Given the description of an element on the screen output the (x, y) to click on. 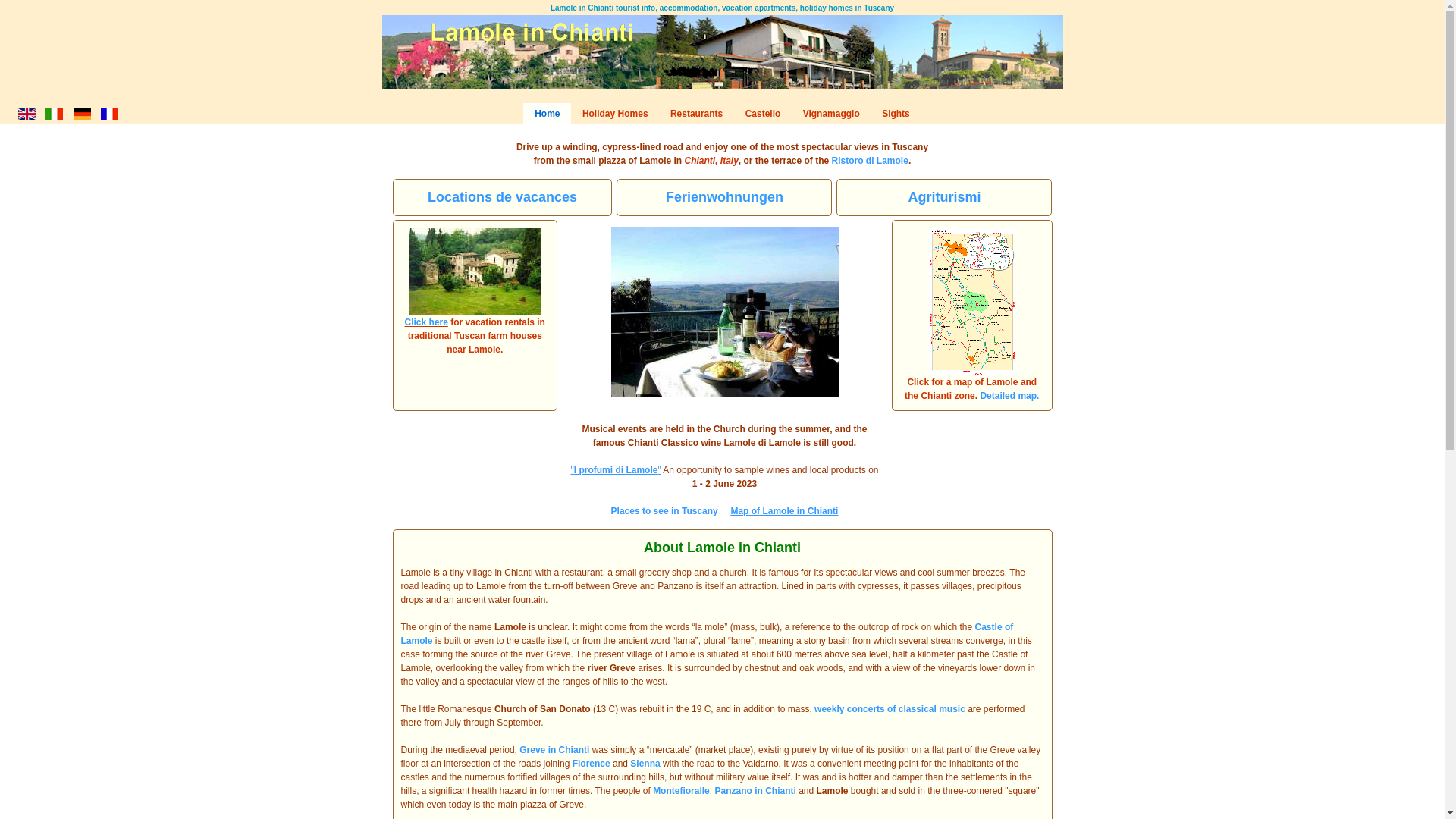
Deutsch (82, 113)
Ferienwohnungen (724, 198)
Castle of Lamole (706, 633)
Sienna (644, 763)
Places to see in Tuscany (664, 511)
Greve in Chianti (554, 749)
Holiday Homes (614, 113)
weekly concerts of classical music (889, 708)
Italiano (53, 113)
Map of Lamole in Chianti (784, 511)
